Given the description of an element on the screen output the (x, y) to click on. 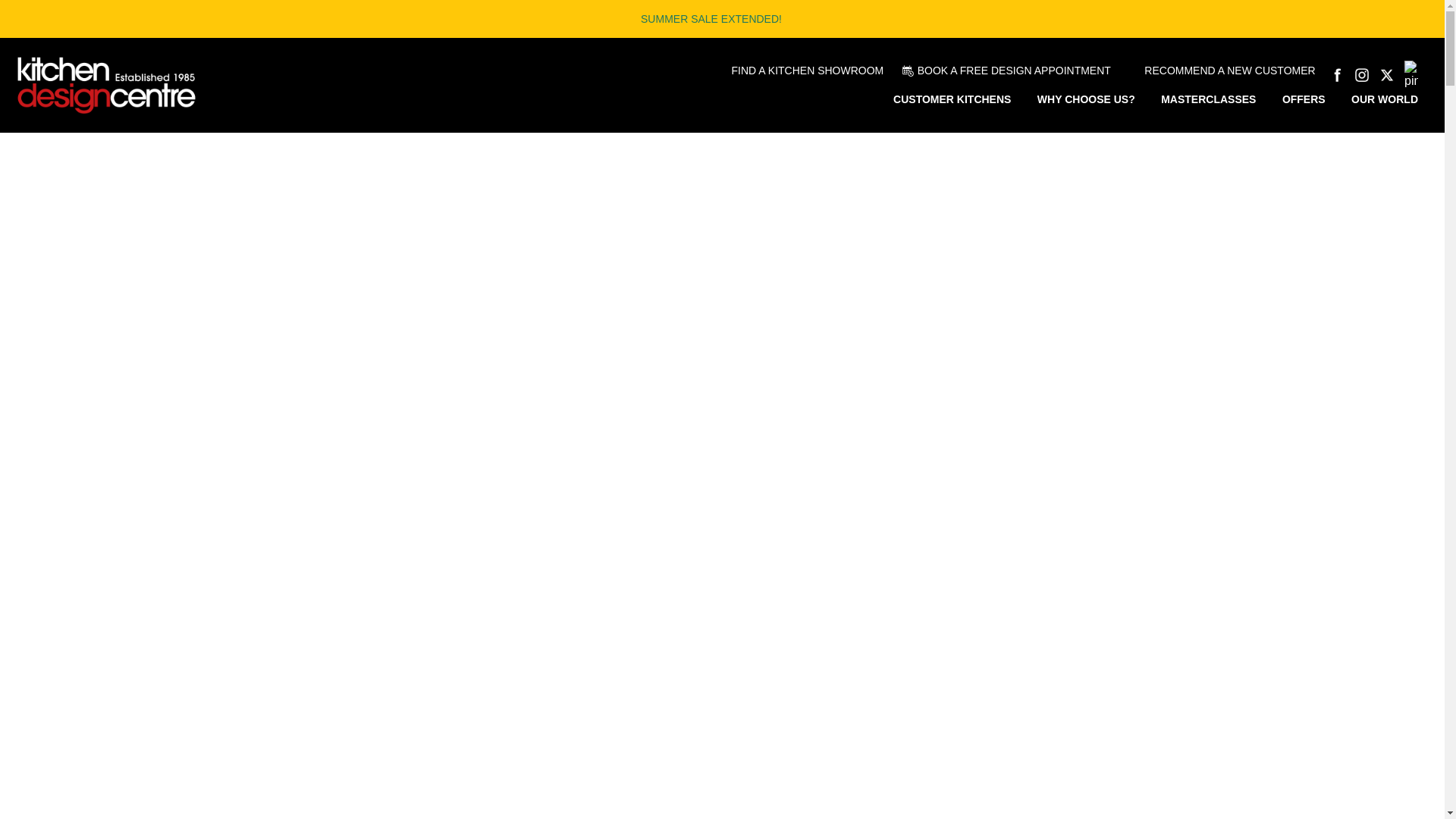
RECOMMEND A NEW CUSTOMER (1225, 70)
SUMMER SALE EXTENDED! (710, 19)
BOOK A FREE DESIGN APPOINTMENT (1010, 70)
RECOMMEND A NEW CUSTOMER (1225, 69)
MASTERCLASSES (1208, 98)
CUSTOMER KITCHENS (952, 98)
BOOK A FREE DESIGN APPOINTMENT (1010, 69)
FIND A KITCHEN SHOWROOM (803, 70)
Customer Kitchens (952, 98)
FIND A KITCHEN SHOWROOM (803, 69)
